Given the description of an element on the screen output the (x, y) to click on. 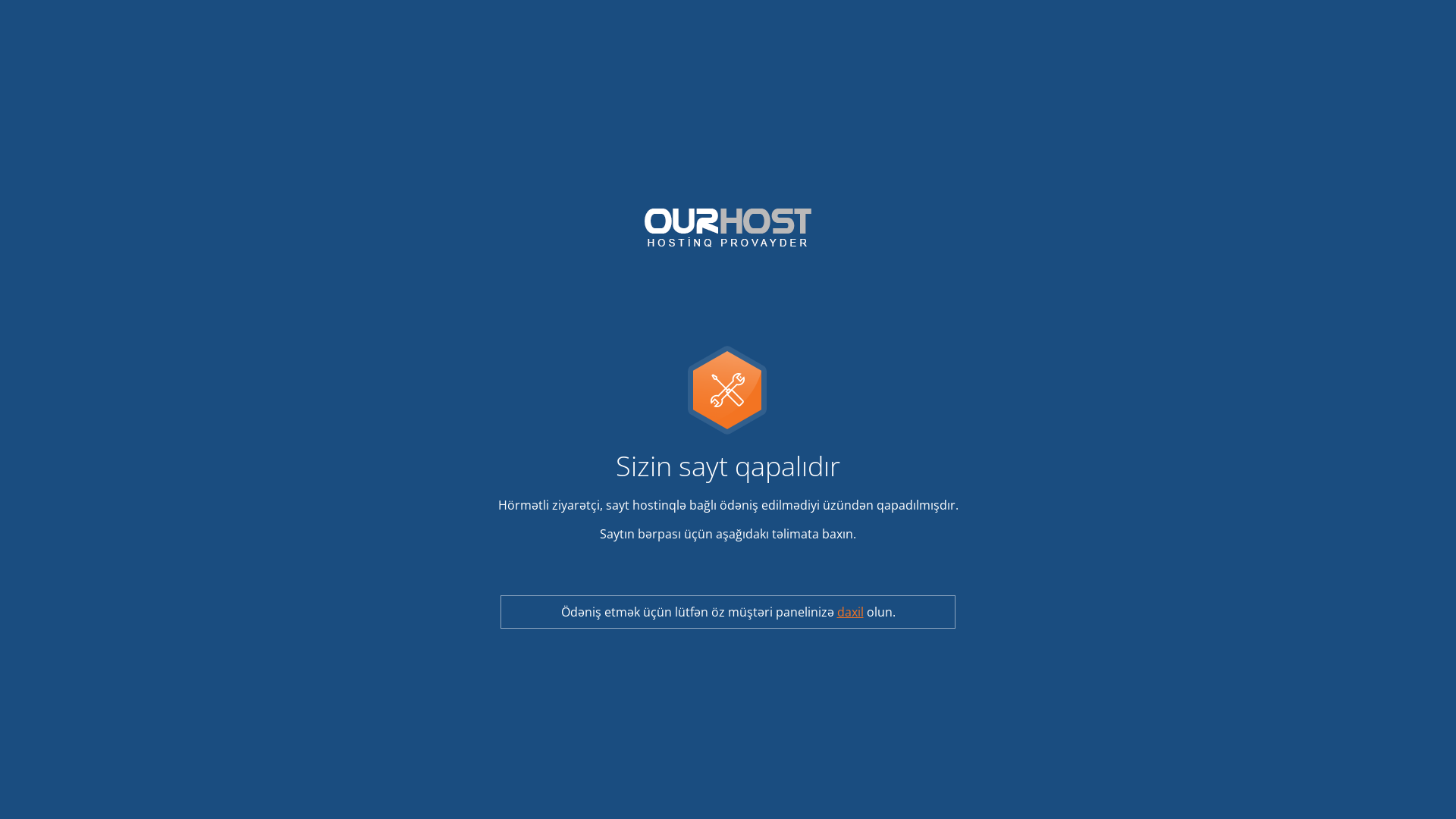
daxil Element type: text (850, 611)
